Given the description of an element on the screen output the (x, y) to click on. 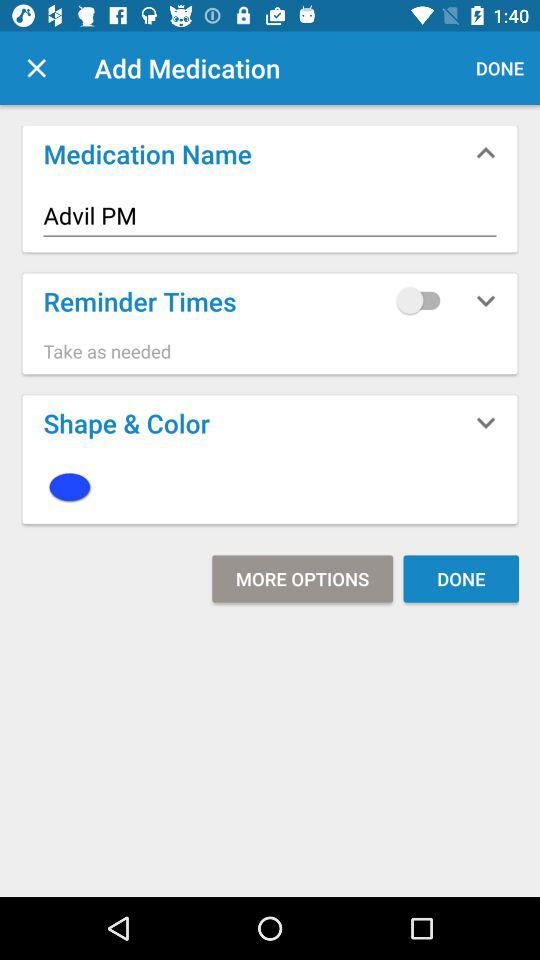
launch more options item (302, 578)
